Given the description of an element on the screen output the (x, y) to click on. 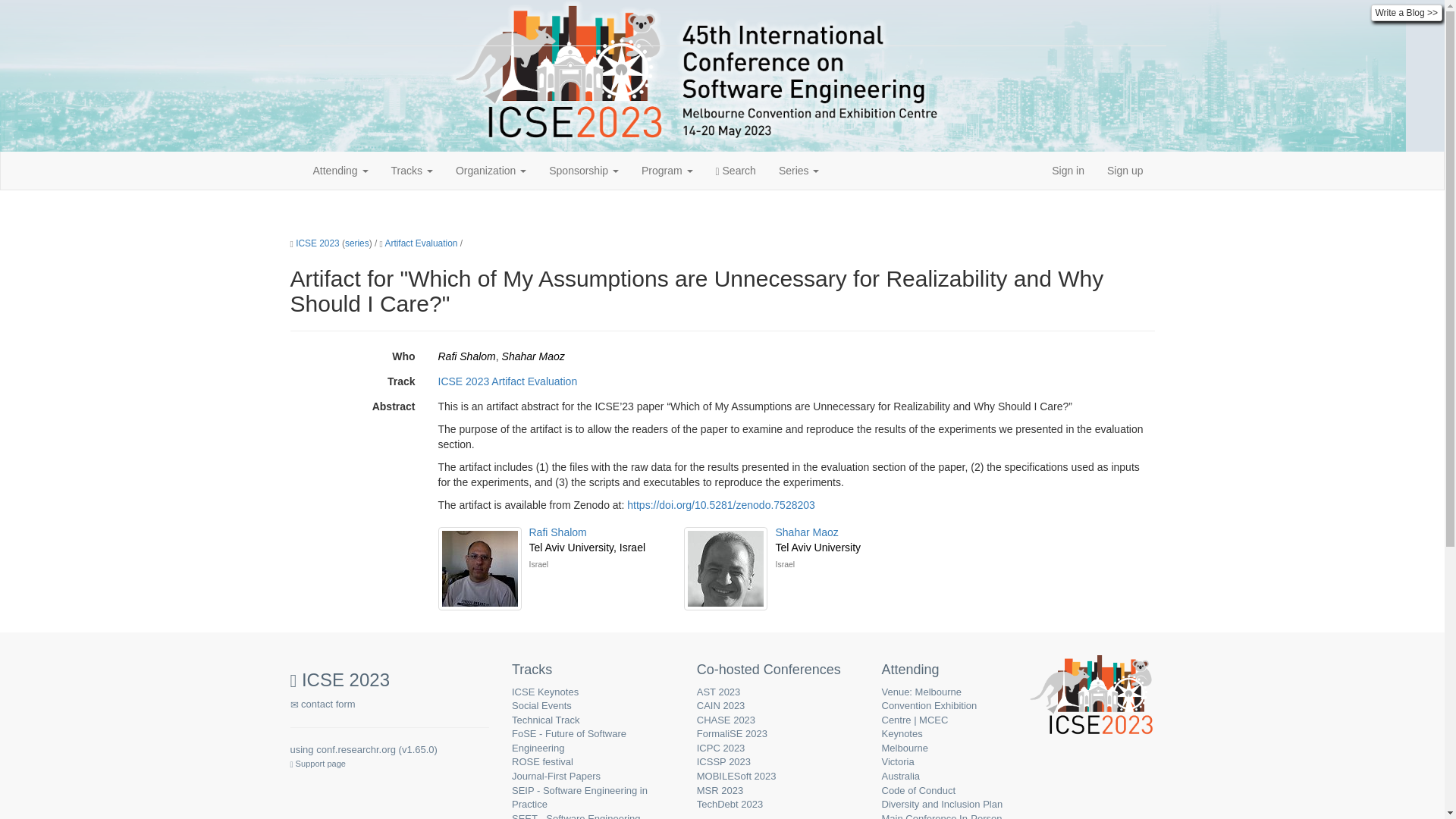
Tracks (412, 170)
Attending (340, 170)
